Given the description of an element on the screen output the (x, y) to click on. 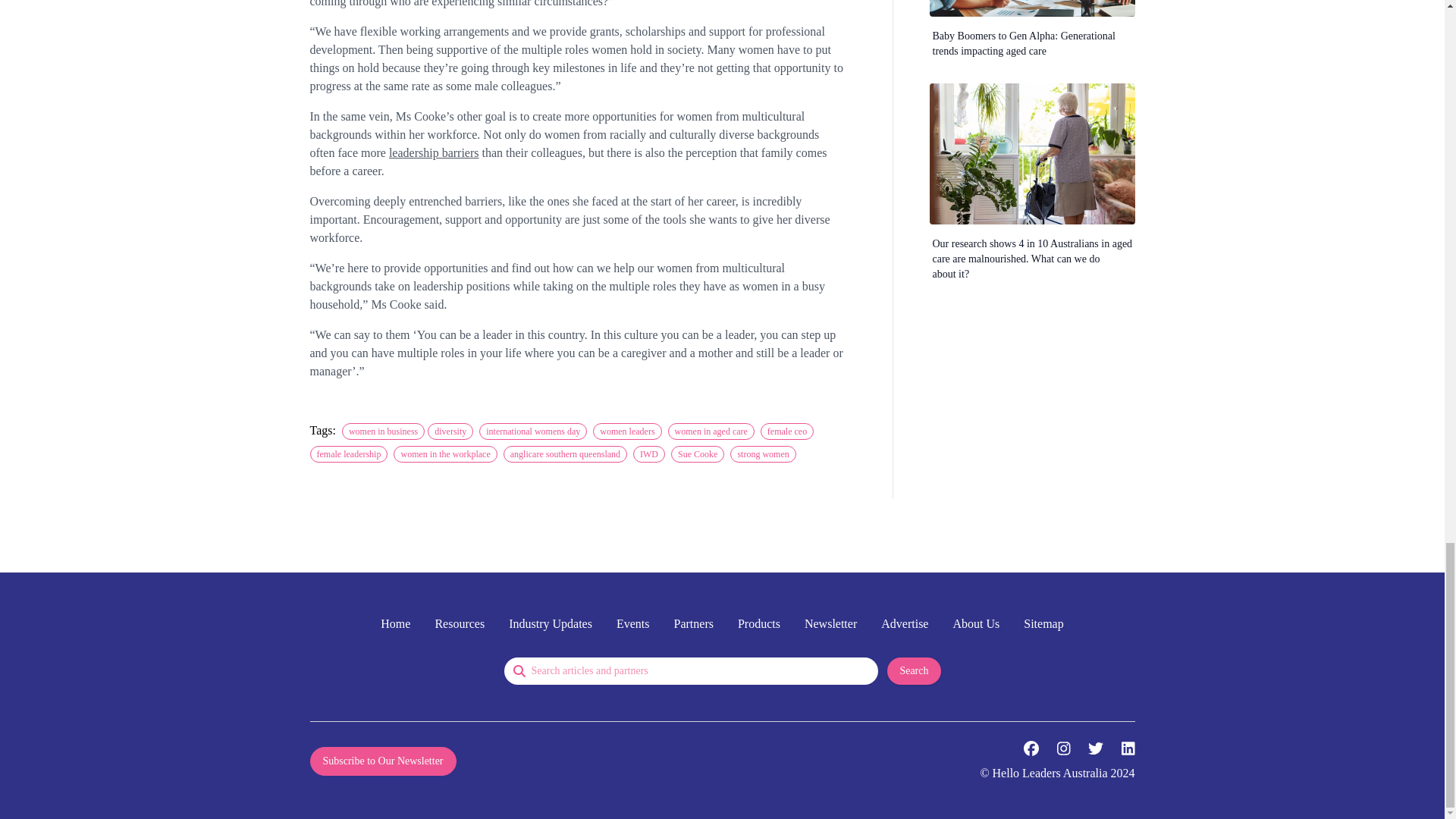
leadership barriers (433, 152)
